Given the description of an element on the screen output the (x, y) to click on. 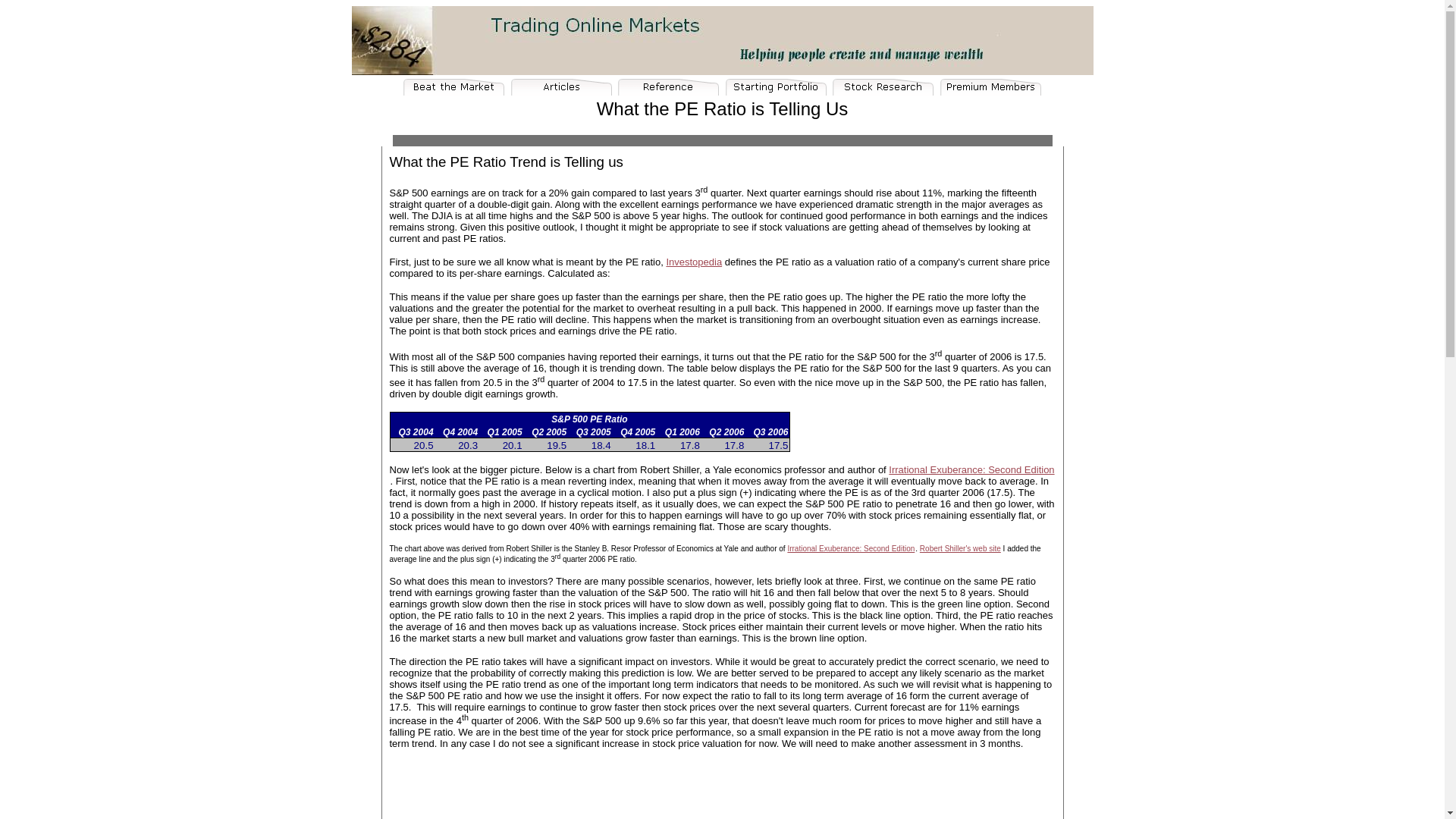
Investopedia (693, 261)
Irrational Exuberance: Second Edition (971, 469)
Robert Shiller's web site (960, 548)
Irrational Exuberance: Second Edition (850, 548)
